Given the description of an element on the screen output the (x, y) to click on. 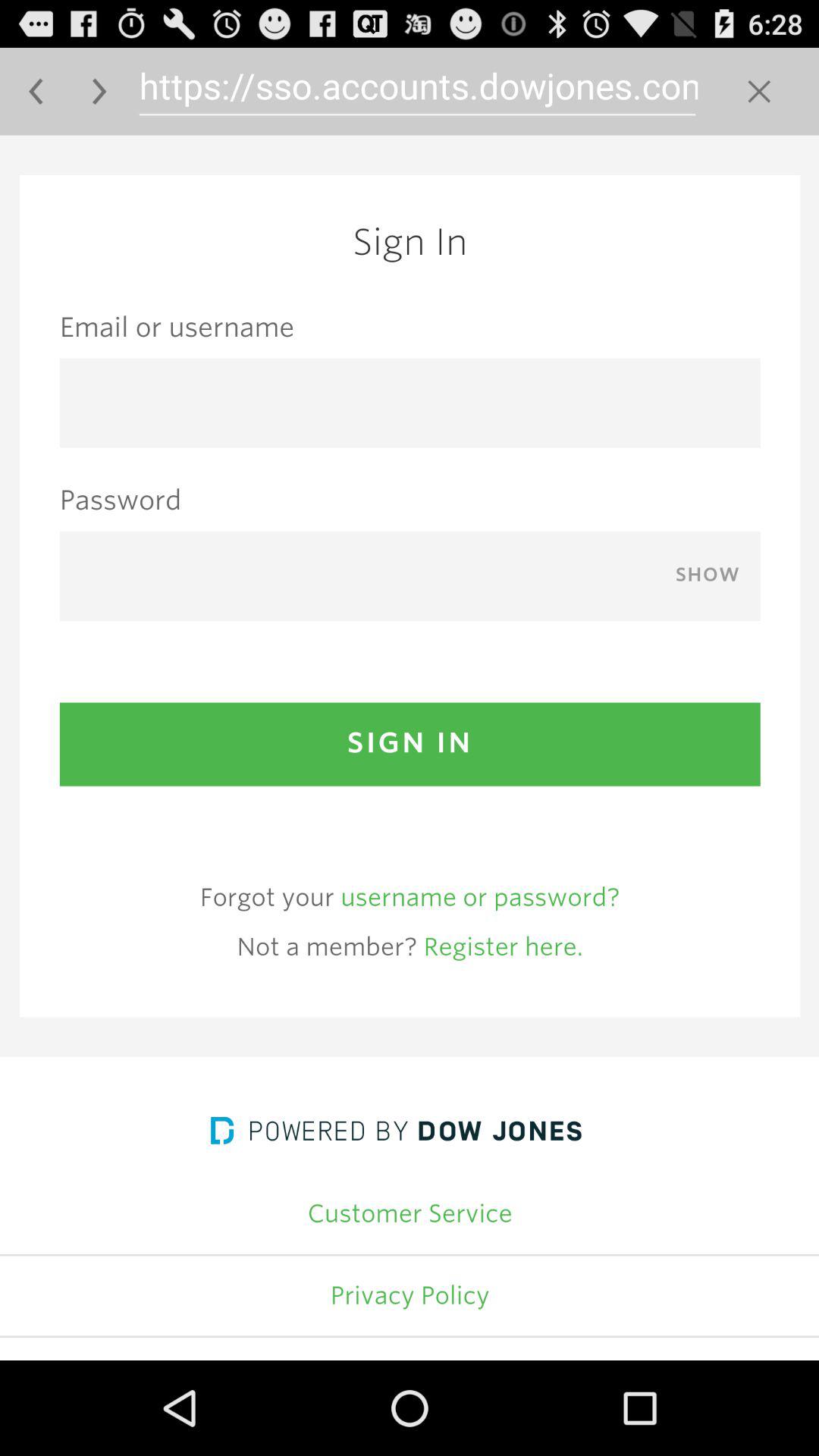
clear address bar (759, 91)
